Given the description of an element on the screen output the (x, y) to click on. 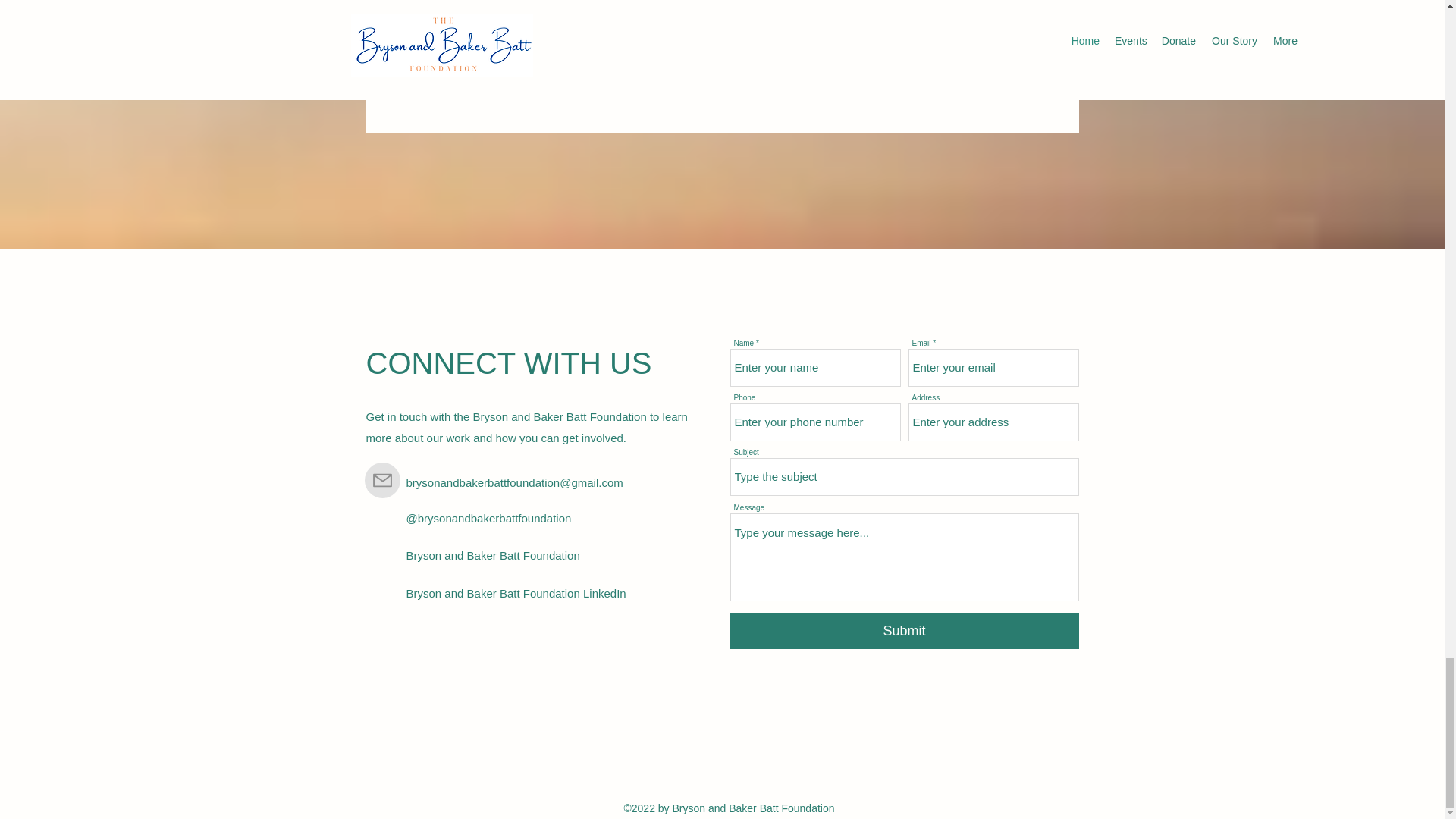
Submit (903, 631)
DONATE (722, 62)
